Given the description of an element on the screen output the (x, y) to click on. 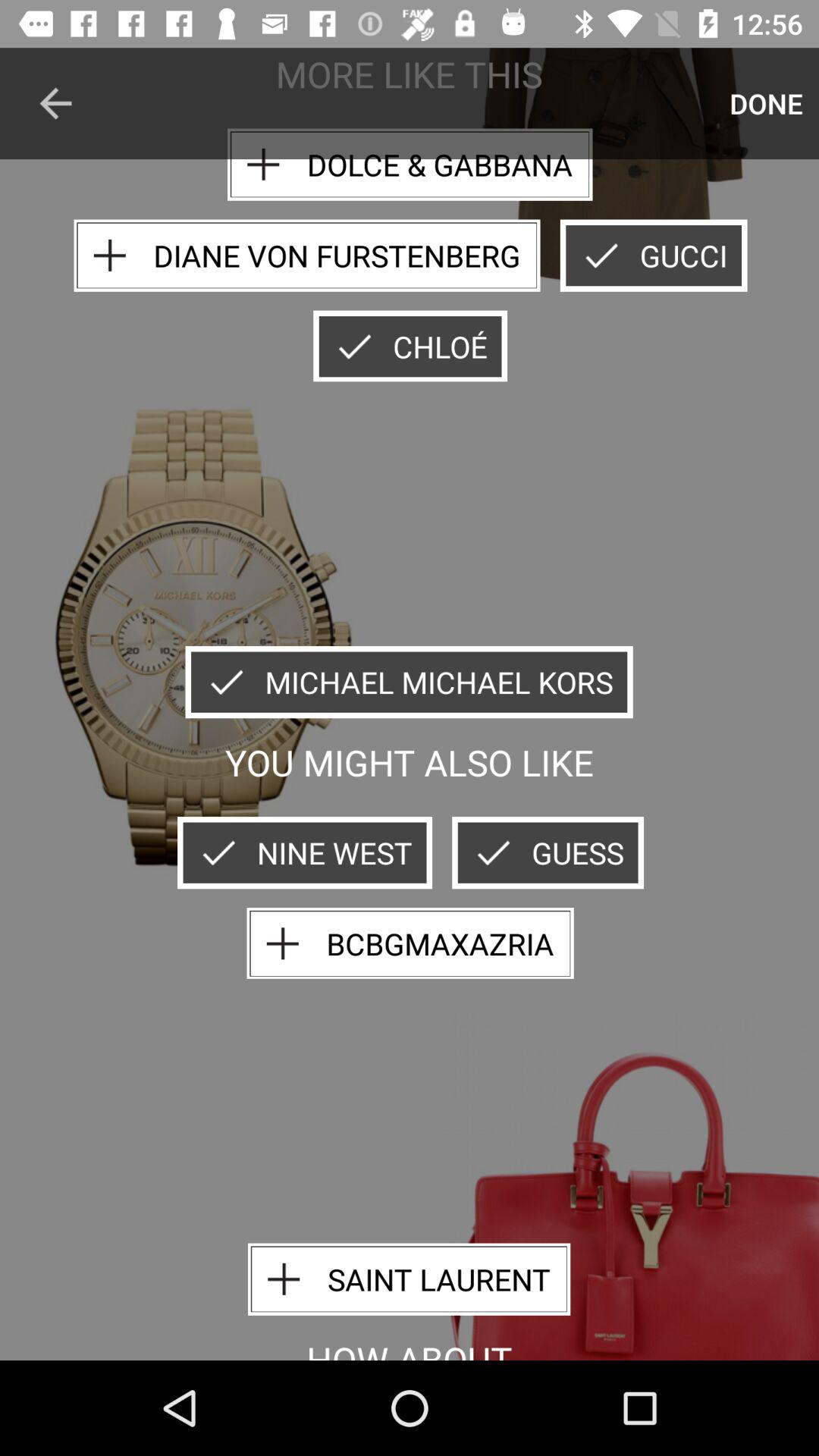
choose saint laurent icon (408, 1279)
